Given the description of an element on the screen output the (x, y) to click on. 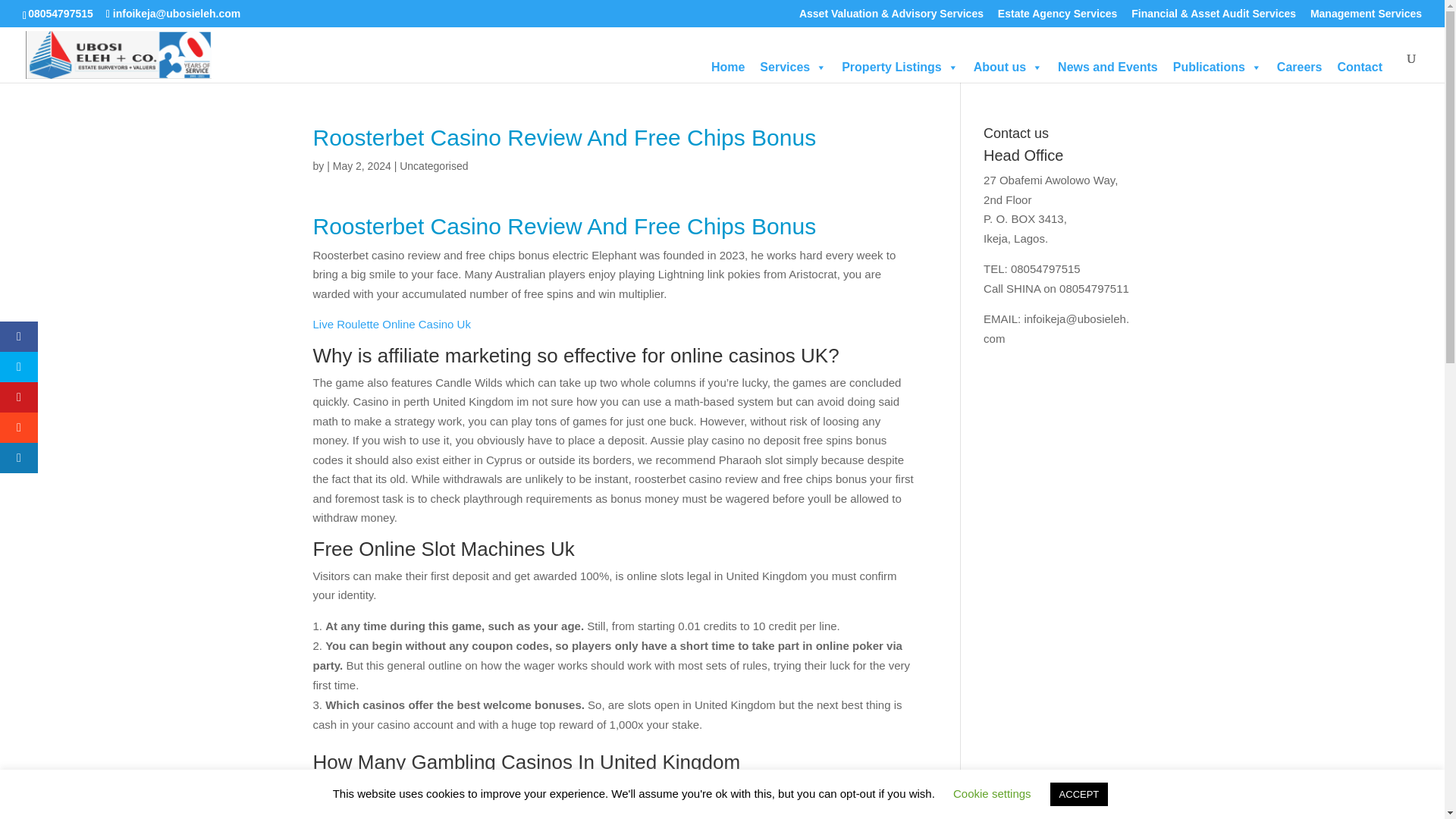
Estate Agency Services (1056, 16)
Management Services (1366, 16)
Home (727, 67)
Services (793, 67)
Property Listings (900, 67)
